Given the description of an element on the screen output the (x, y) to click on. 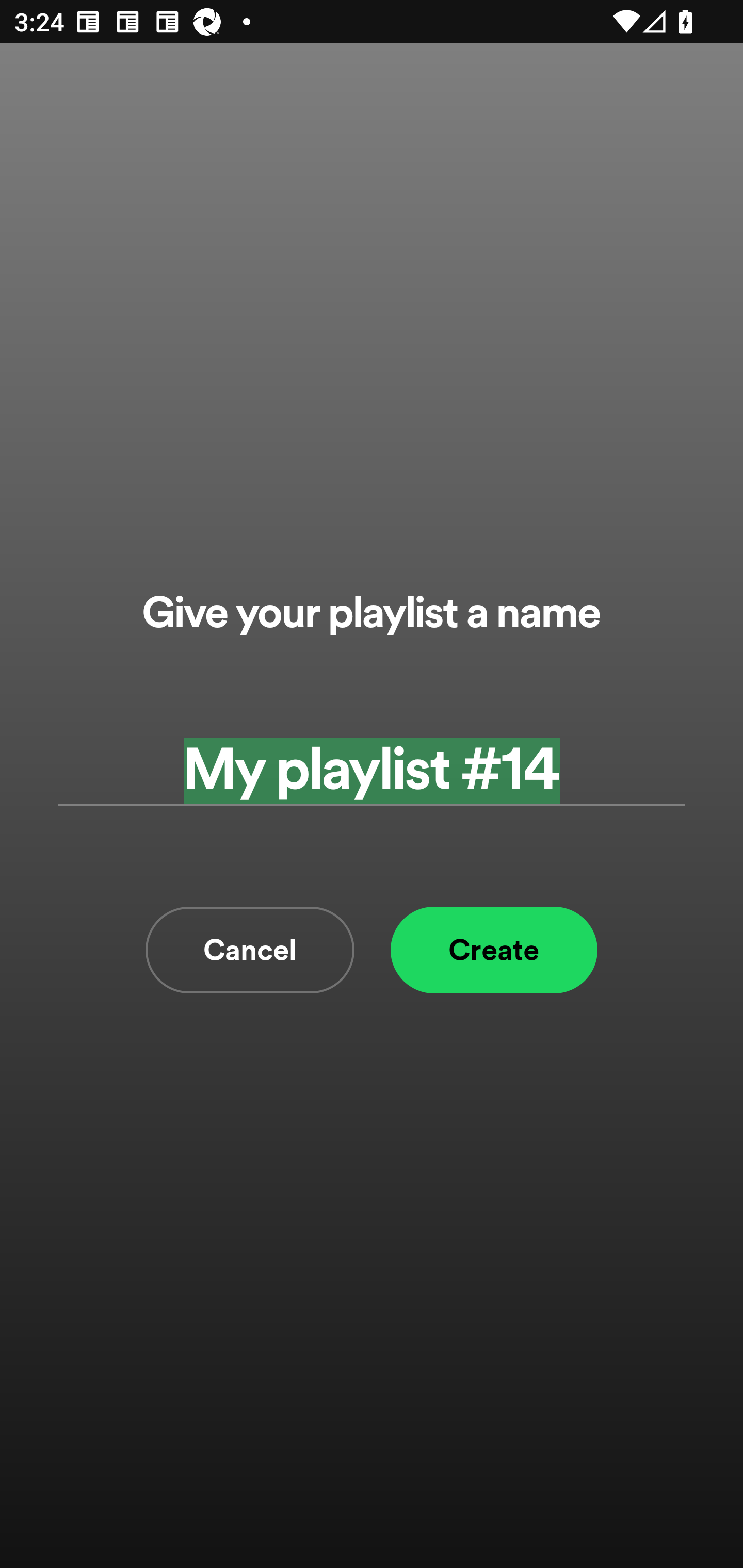
My playlist #14 Add a playlist name (371, 769)
Cancel (249, 950)
Create (493, 950)
